Given the description of an element on the screen output the (x, y) to click on. 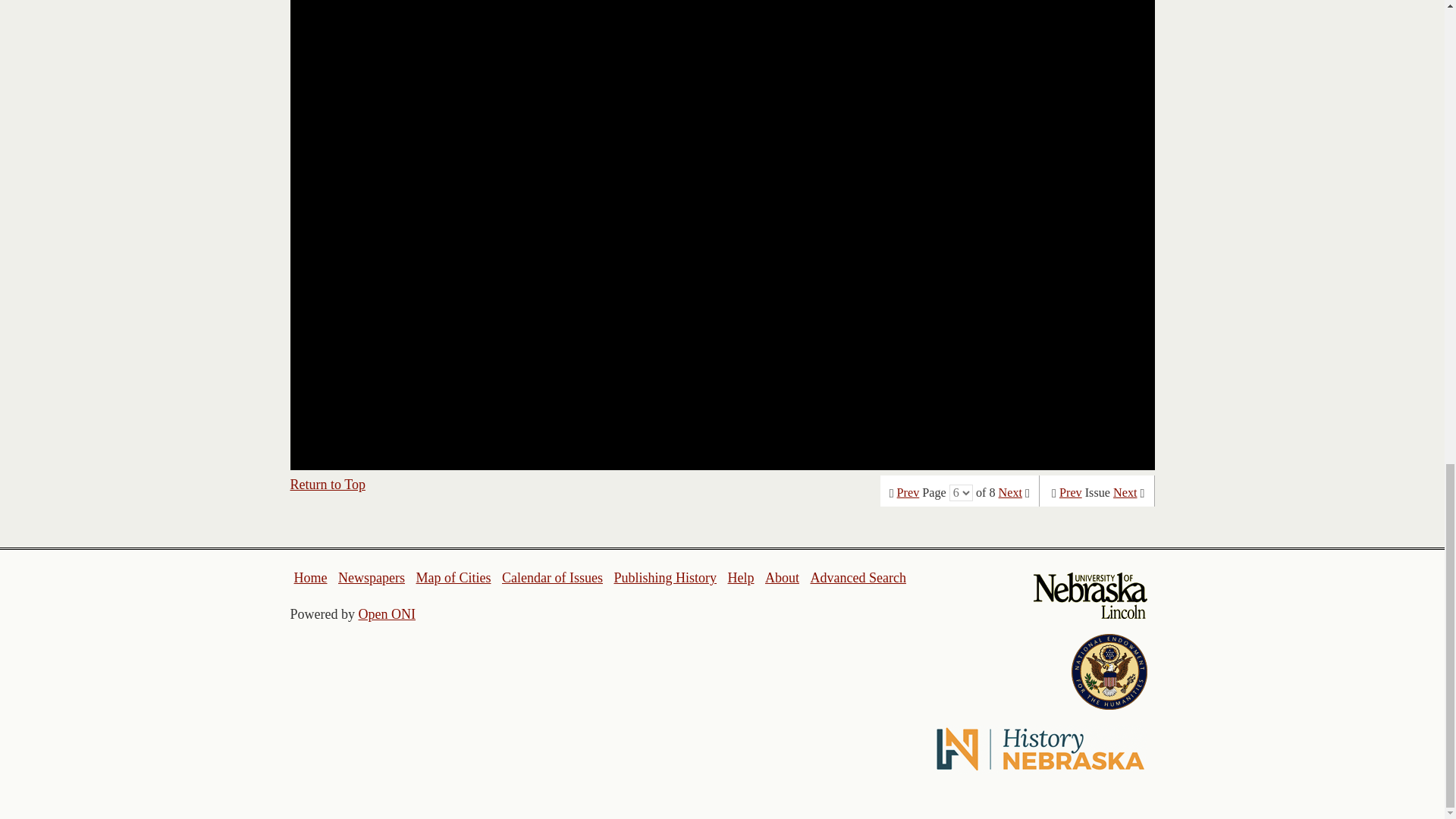
Newspapers (370, 577)
Prev (908, 492)
Advanced Search (857, 577)
Home (310, 577)
Next (1010, 492)
About (782, 577)
Publishing History (664, 577)
Calendar of Issues (552, 577)
Help (740, 577)
Map of Cities (452, 577)
Return to Top (327, 484)
Next (1125, 492)
Prev (1070, 492)
Open ONI (386, 613)
